Given the description of an element on the screen output the (x, y) to click on. 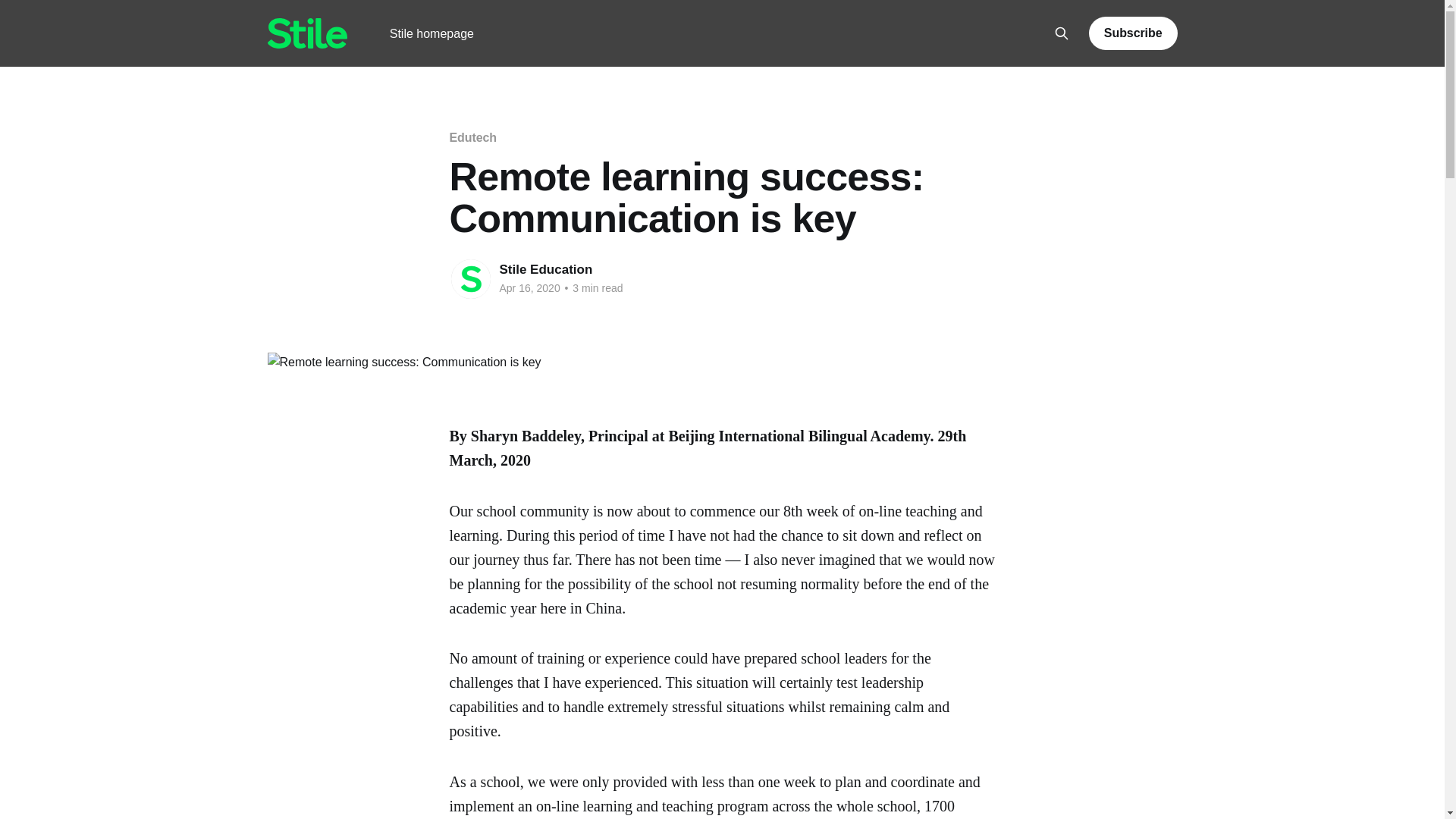
Stile Education (545, 269)
Edutech (472, 137)
Subscribe (1133, 32)
Stile homepage (432, 33)
